Given the description of an element on the screen output the (x, y) to click on. 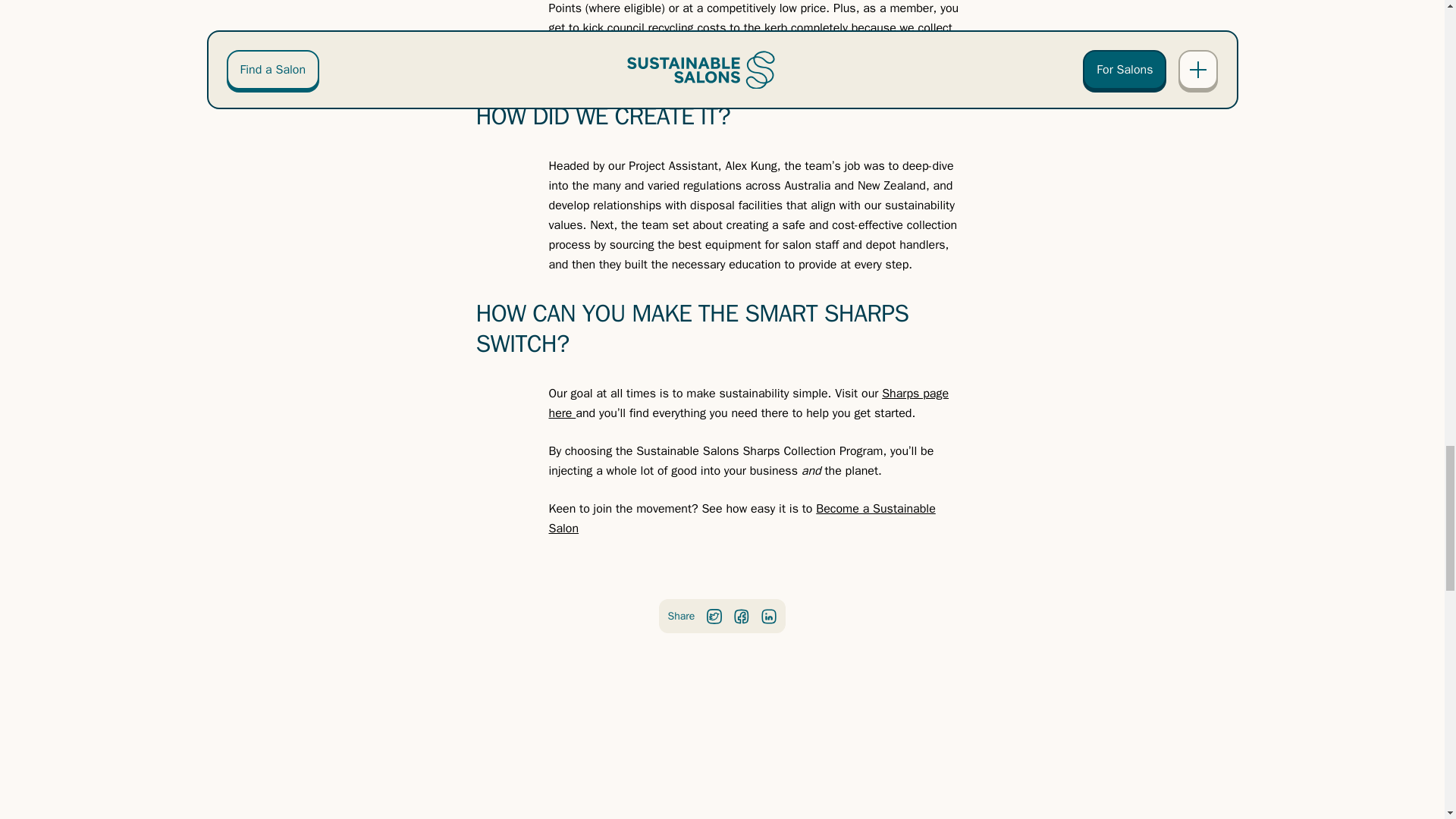
Sharps page here (748, 402)
Become a Sustainable Salon (742, 518)
